Given the description of an element on the screen output the (x, y) to click on. 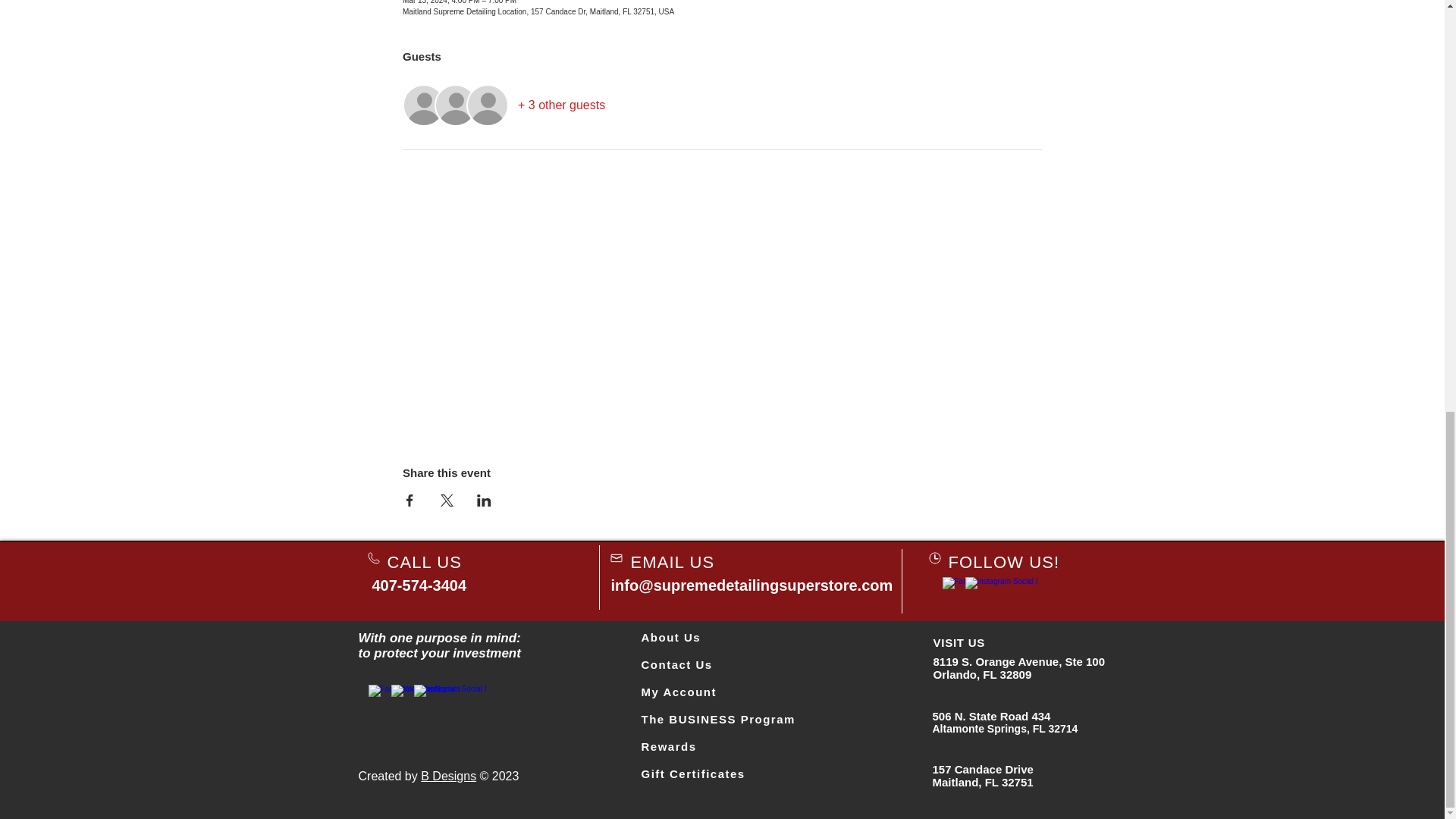
8119 S. Orange Avenue, Ste 100 (1019, 661)
Rewards (669, 746)
407-574-3404 (418, 585)
506 N. State Road 434 (992, 716)
The BUSINESS Program (718, 718)
My Account (679, 691)
About Us (671, 636)
Altamonte Springs, FL 32714 (1005, 728)
Contact Us (677, 664)
Orlando, FL 32809 (981, 674)
